Given the description of an element on the screen output the (x, y) to click on. 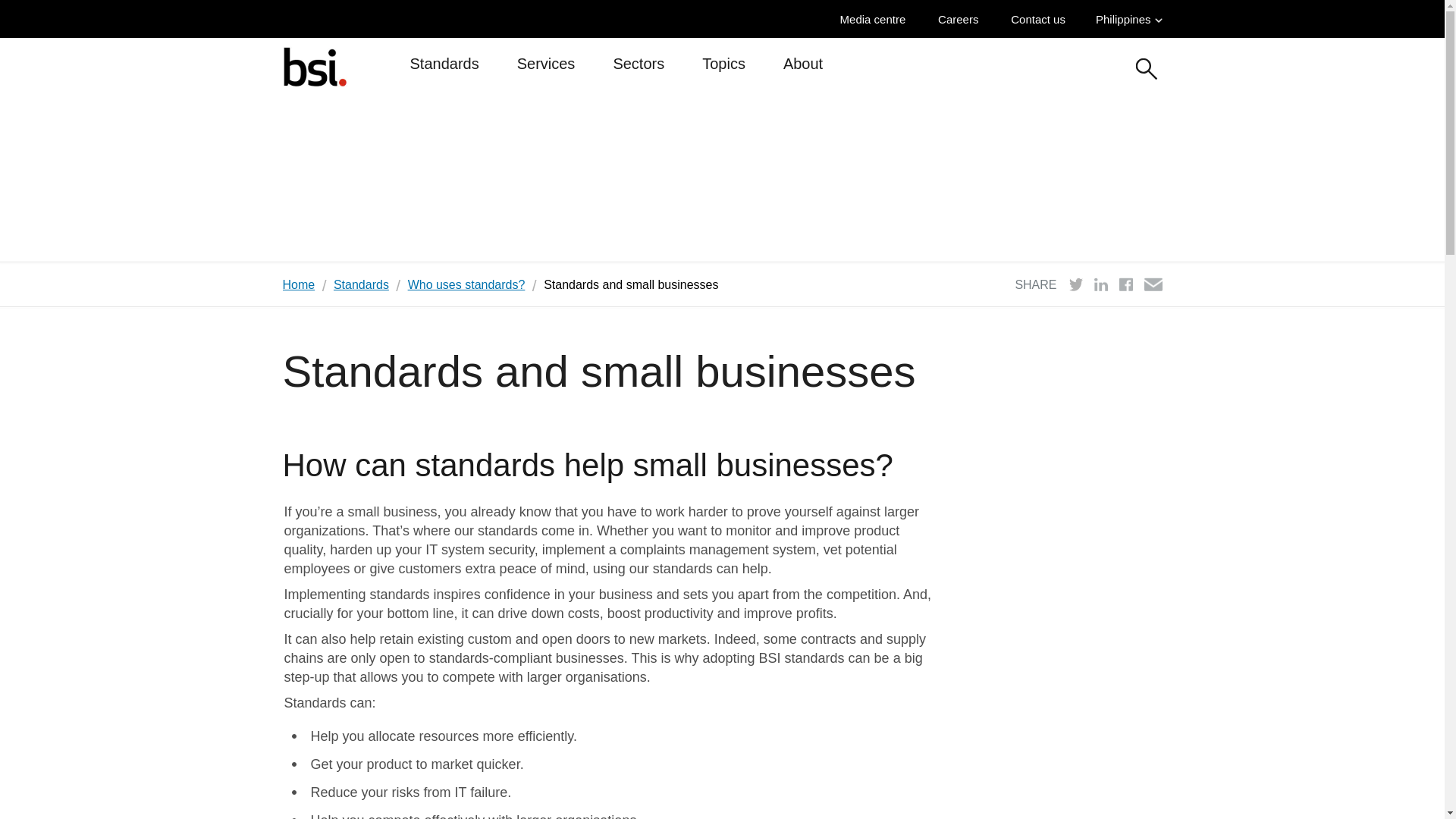
Careers (961, 19)
Contact us (1041, 19)
Philippines (1128, 19)
Media centre (877, 19)
logo (314, 65)
Media centre (877, 19)
Careers (961, 19)
Standards (444, 70)
Contact us (1041, 19)
